Given the description of an element on the screen output the (x, y) to click on. 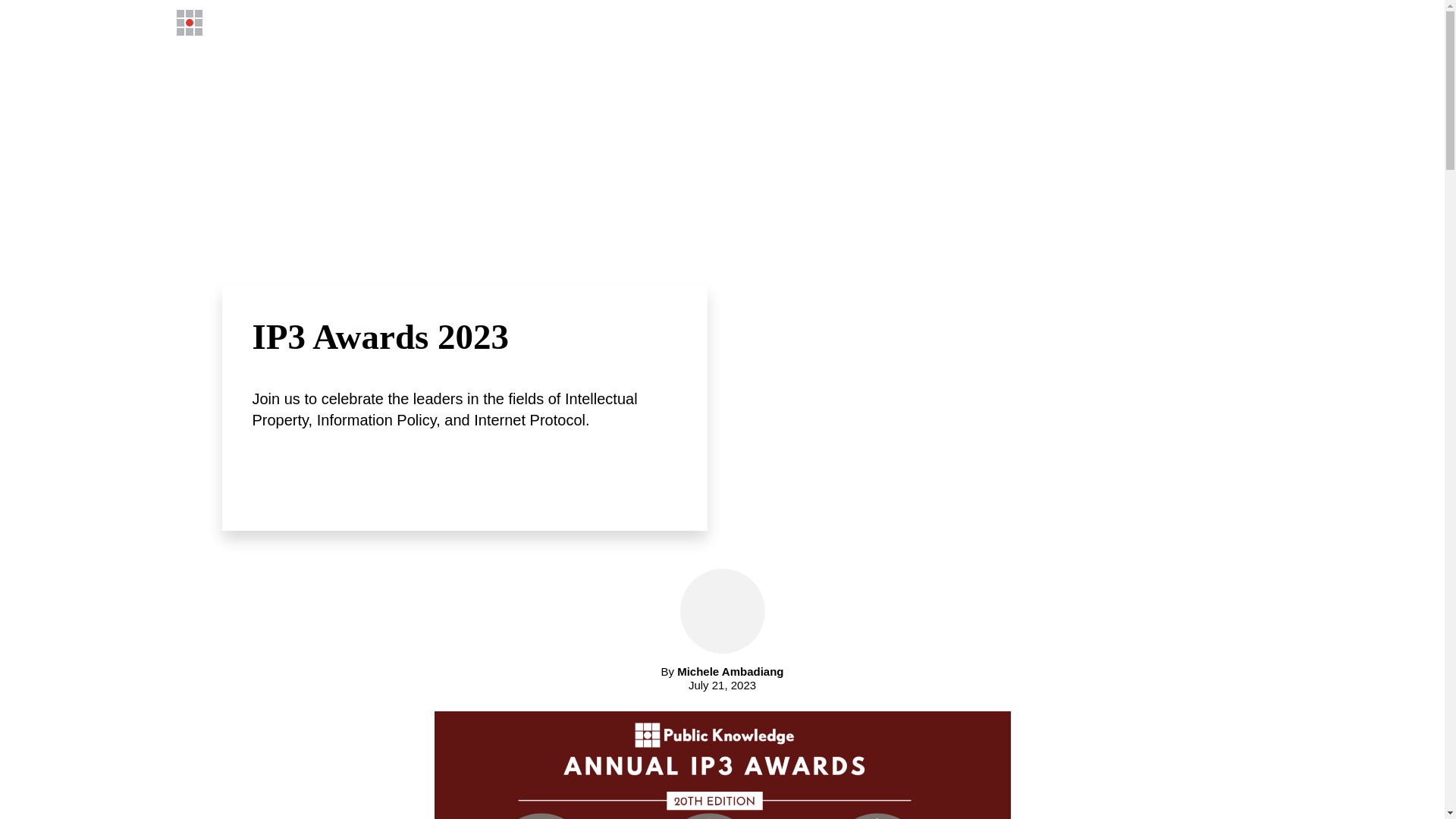
Donate (1117, 22)
Donate (1117, 22)
Sherwin Lee Siy Memorial Fund (984, 22)
Public Knowledge (270, 22)
Subscribe (1187, 22)
Subscribe (1187, 22)
Sherwin Lee Siy Memorial Fund (984, 22)
